Given the description of an element on the screen output the (x, y) to click on. 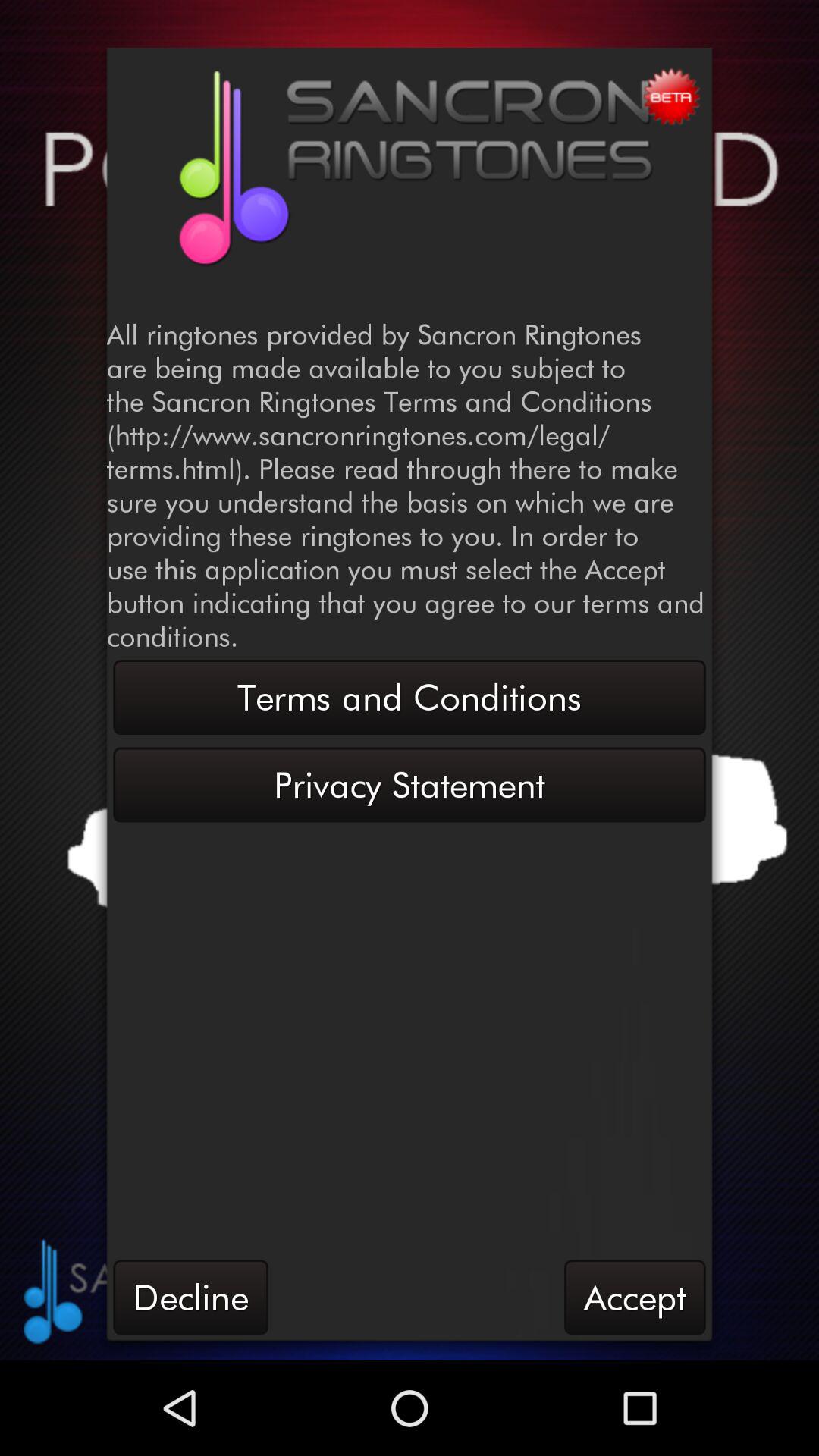
tap item below privacy statement (190, 1296)
